Given the description of an element on the screen output the (x, y) to click on. 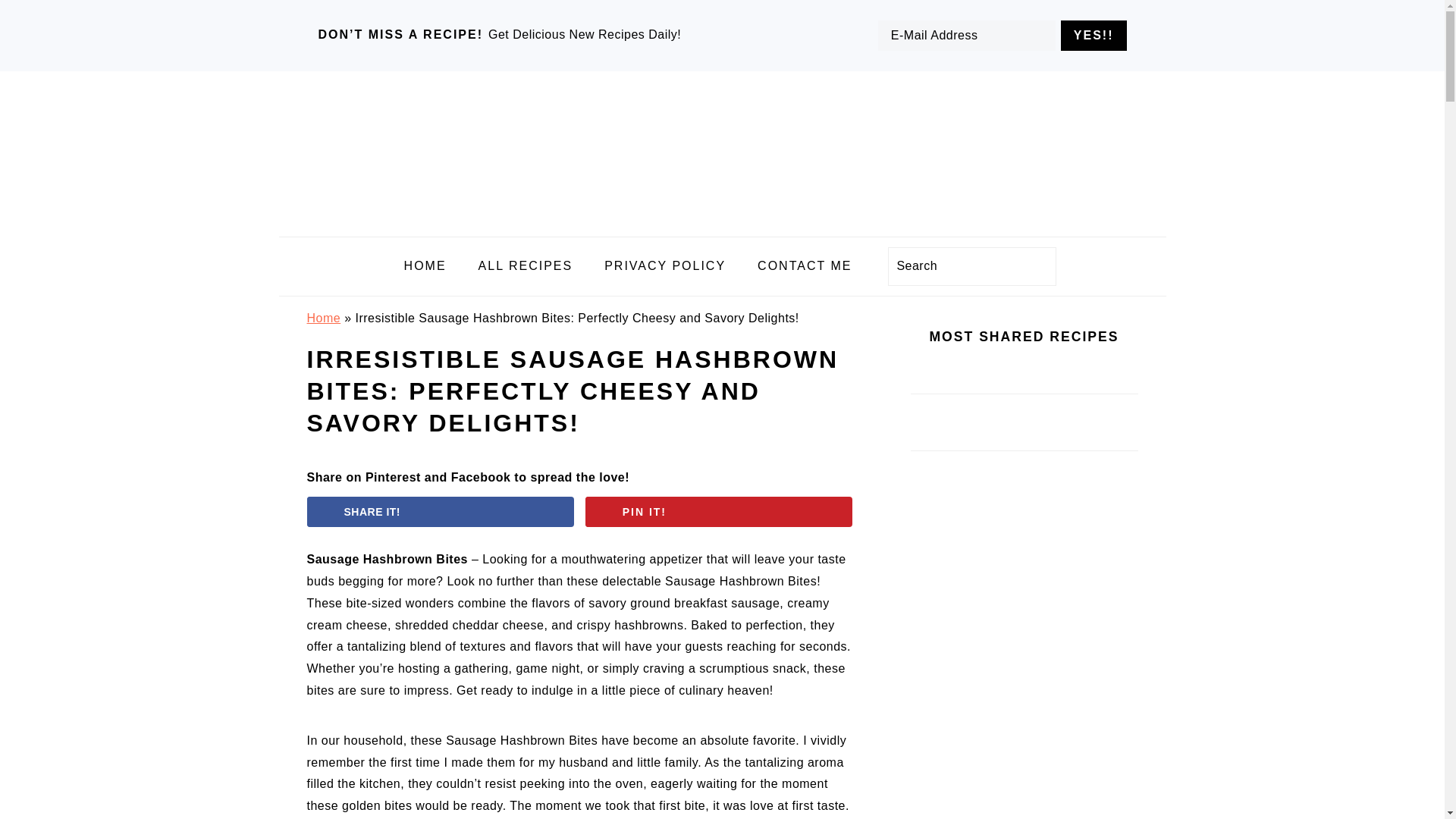
SHARE IT! (439, 511)
Yes!! (1093, 35)
Eight five Five (722, 224)
HOME (425, 266)
Eight five Five (722, 150)
CONTACT ME (804, 266)
Save to Pinterest (719, 511)
Share on Facebook (439, 511)
Yes!! (1093, 35)
PIN IT! (719, 511)
ALL RECIPES (526, 266)
PRIVACY POLICY (664, 266)
